Given the description of an element on the screen output the (x, y) to click on. 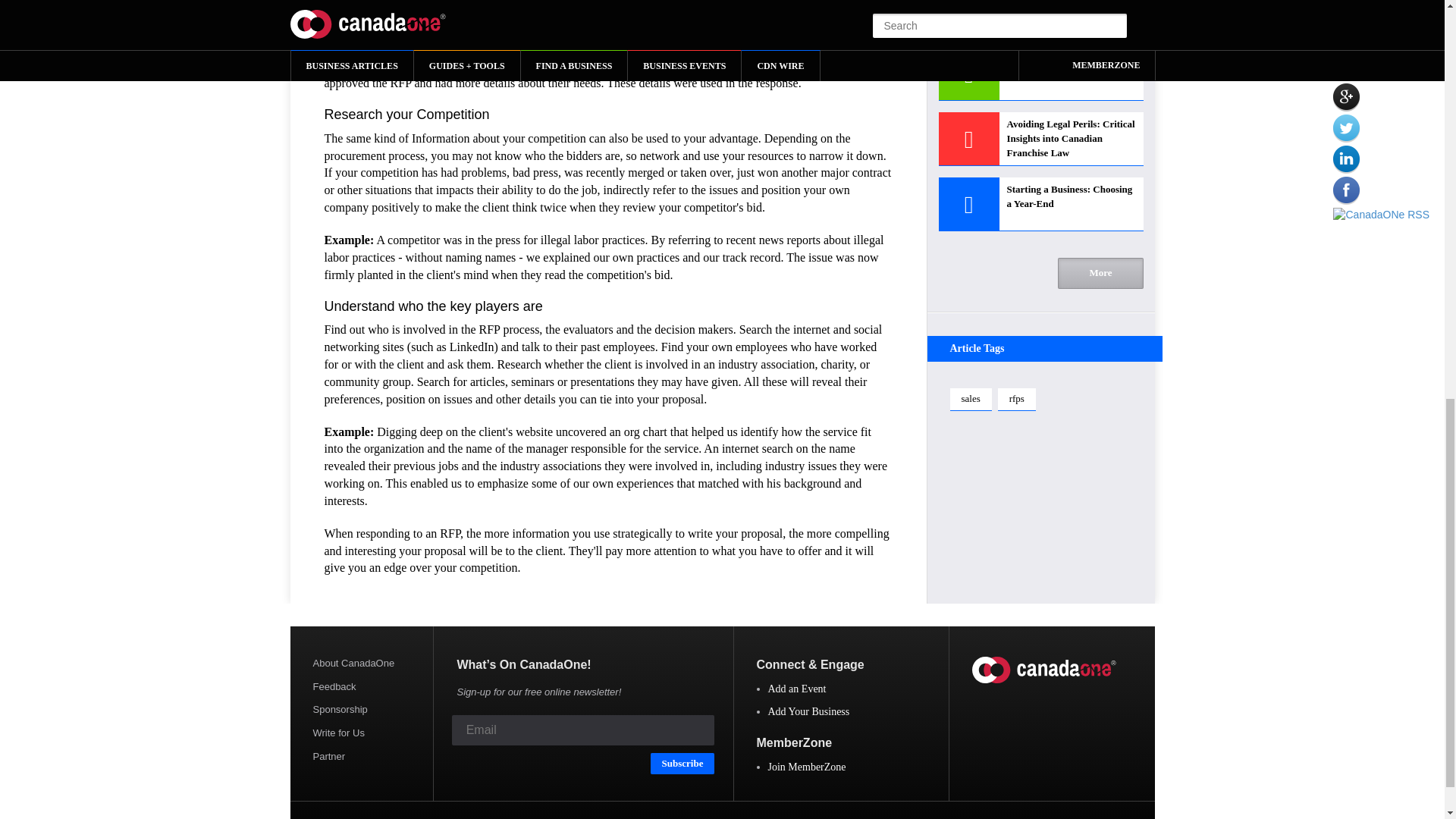
Starting a Business: Choosing a Year-End (1040, 203)
Should I Start My Own Company? (1040, 18)
Conversations with Entrepreneurs: Billy Blanks (1040, 73)
